Given the description of an element on the screen output the (x, y) to click on. 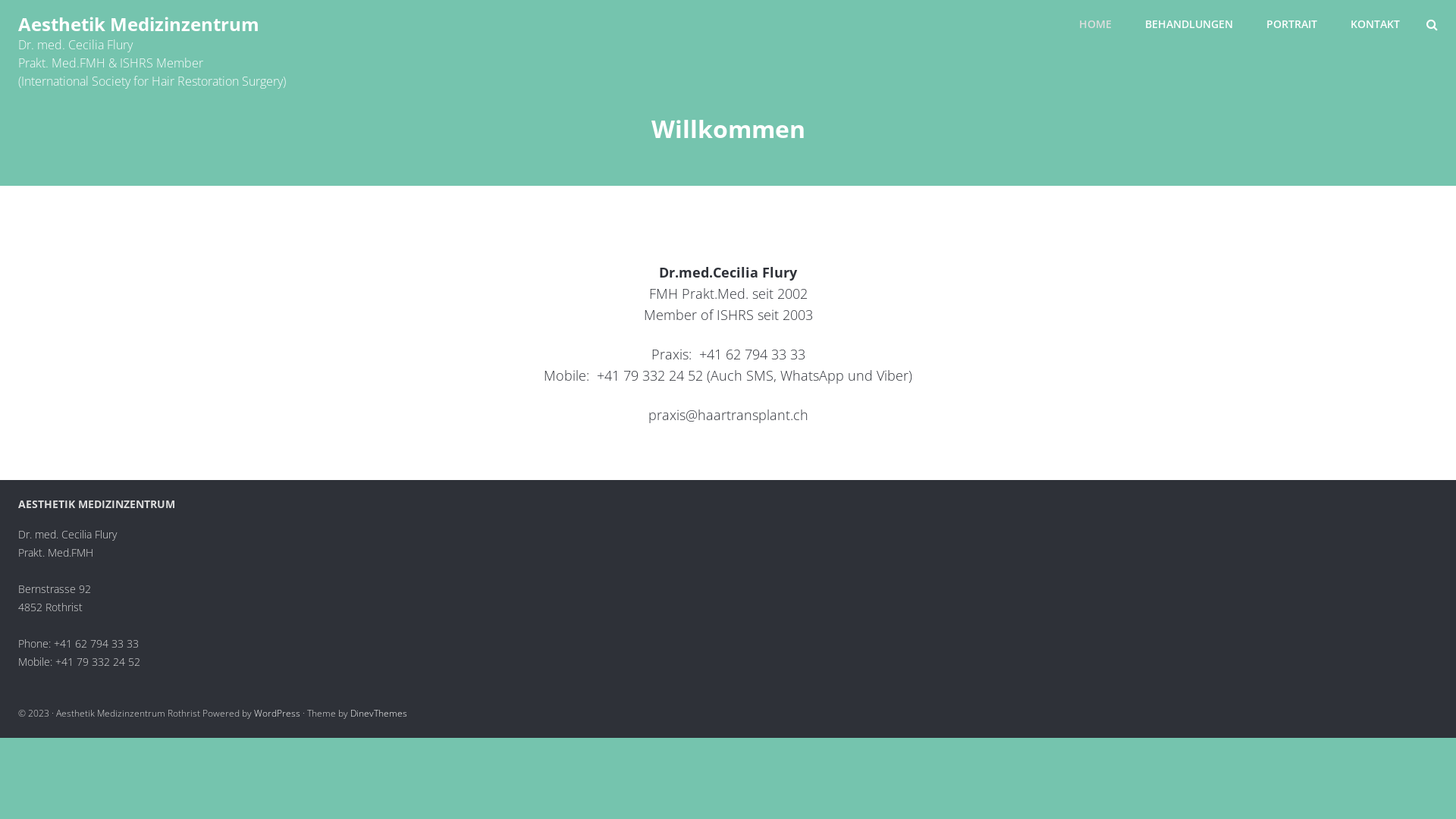
DinevThemes Element type: text (378, 712)
HOME Element type: text (1094, 24)
KONTAKT Element type: text (1375, 24)
BEHANDLUNGEN Element type: text (1188, 24)
WordPress Element type: text (277, 712)
Aesthetik Medizinzentrum Element type: text (138, 26)
PORTRAIT Element type: text (1291, 24)
